Given the description of an element on the screen output the (x, y) to click on. 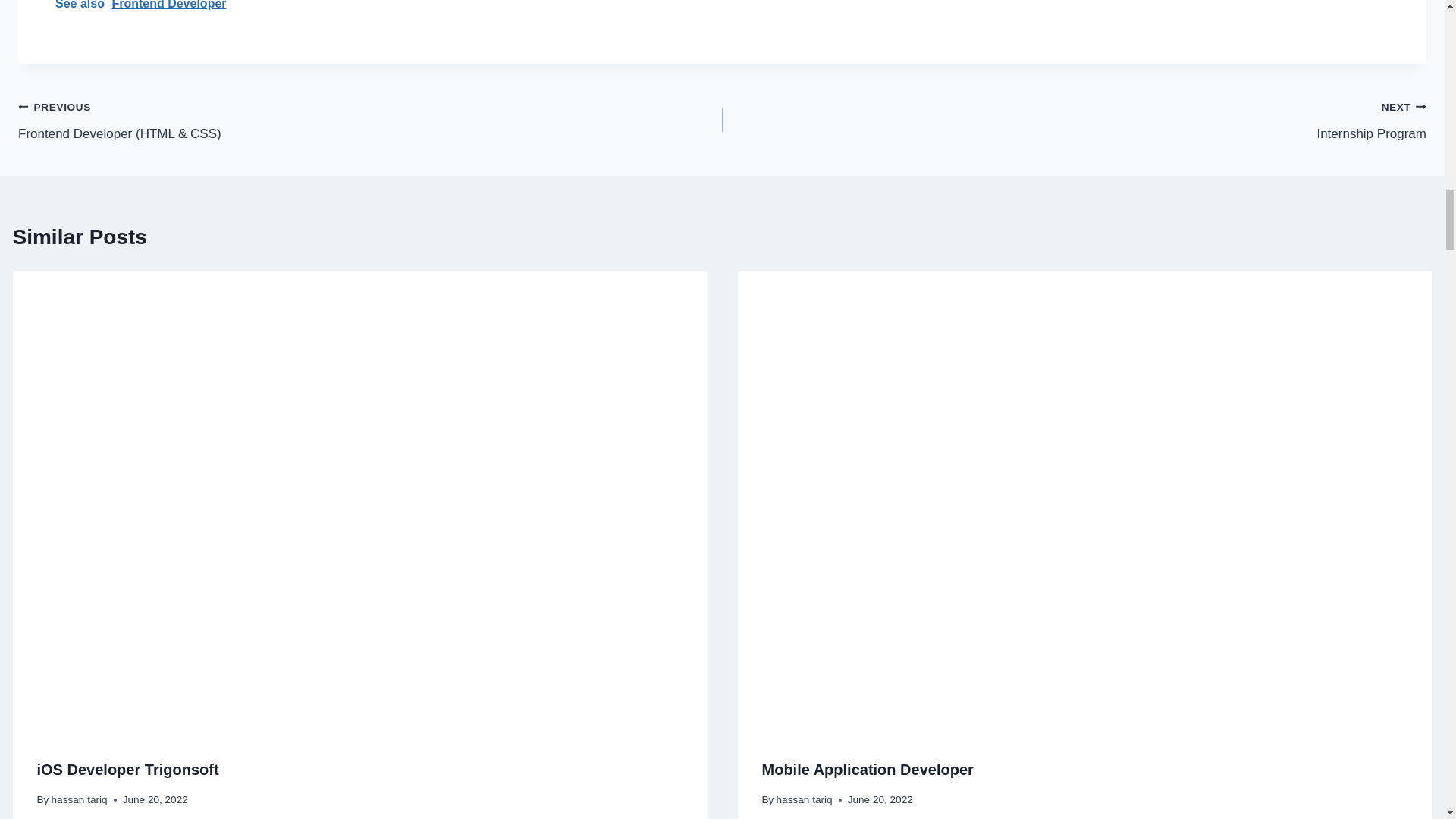
hassan tariq (1074, 120)
Mobile Application Developer (804, 799)
hassan tariq (866, 769)
iOS Developer Trigonsoft (78, 799)
See also  Frontend Developer (127, 769)
